Given the description of an element on the screen output the (x, y) to click on. 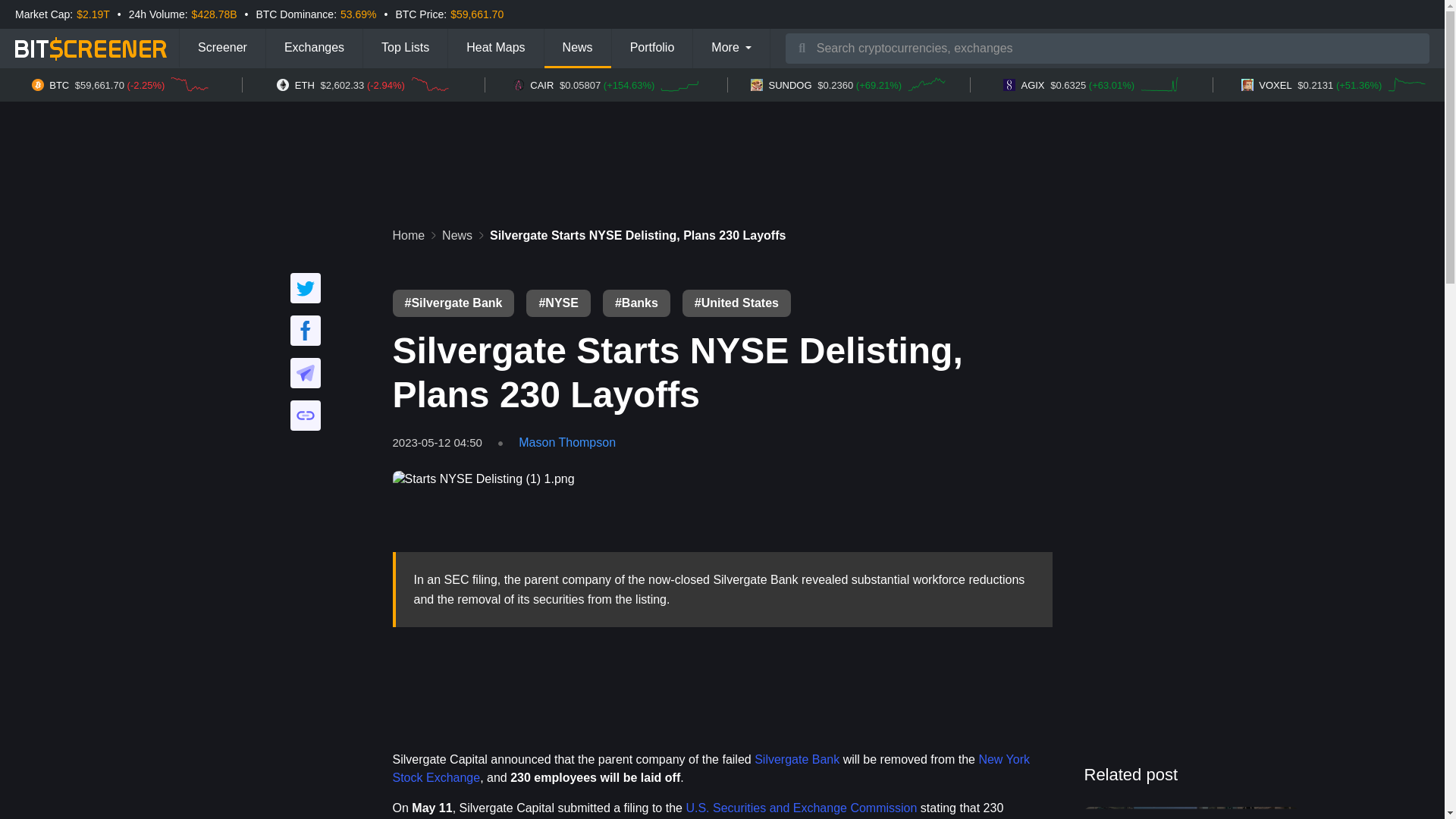
Portfolio (652, 47)
News (577, 47)
Exchanges (314, 47)
Heat Maps (495, 47)
Screener (221, 47)
Top Lists (404, 47)
